Given the description of an element on the screen output the (x, y) to click on. 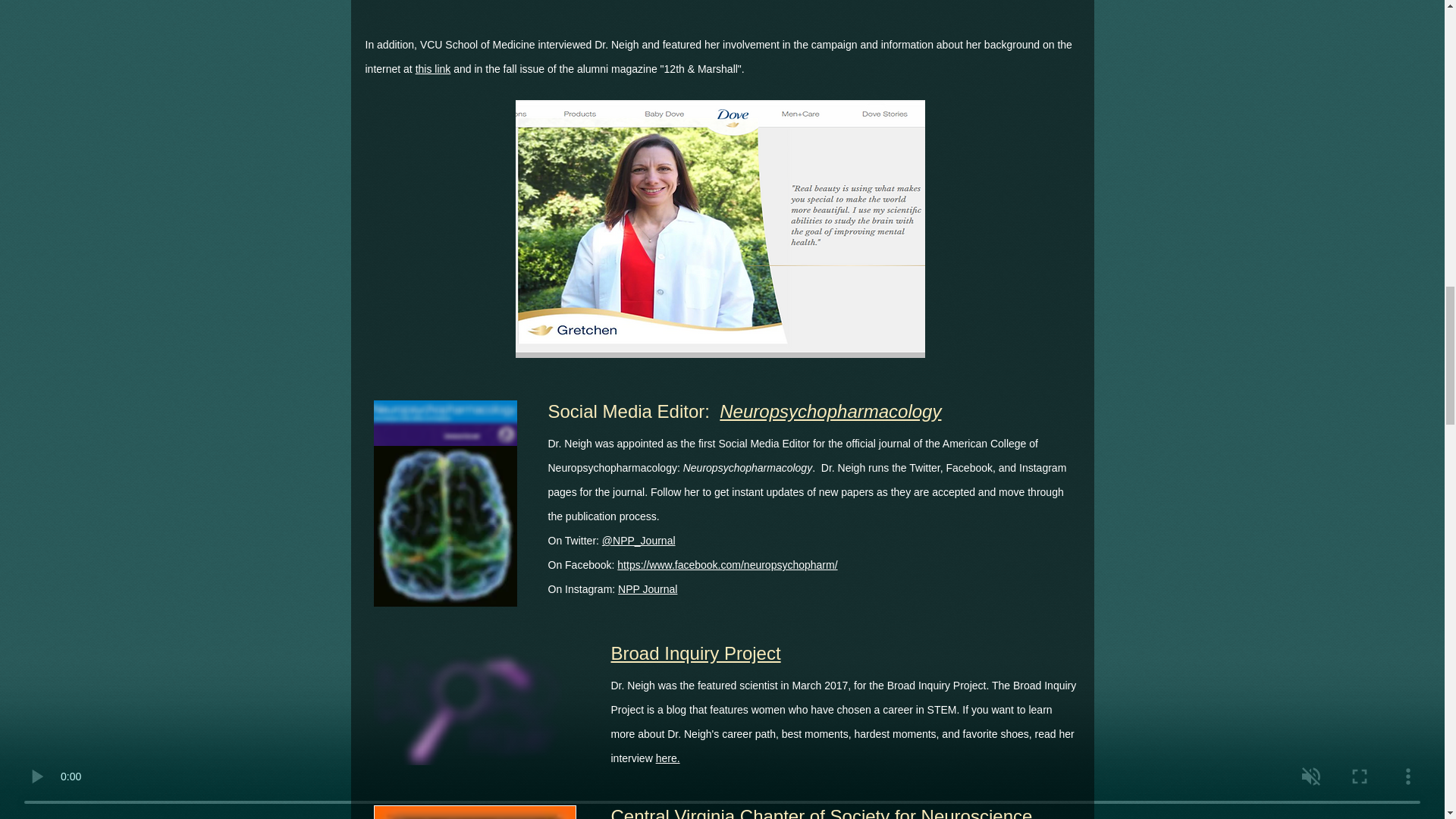
Broad Inquiry Project (695, 652)
Social Media Editor:   (633, 410)
Central Virginia Chapter of Society for Neuroscience (821, 811)
Neuropsychopharmacology (829, 410)
here. (667, 758)
NPP Journal (647, 589)
this link (432, 69)
